Given the description of an element on the screen output the (x, y) to click on. 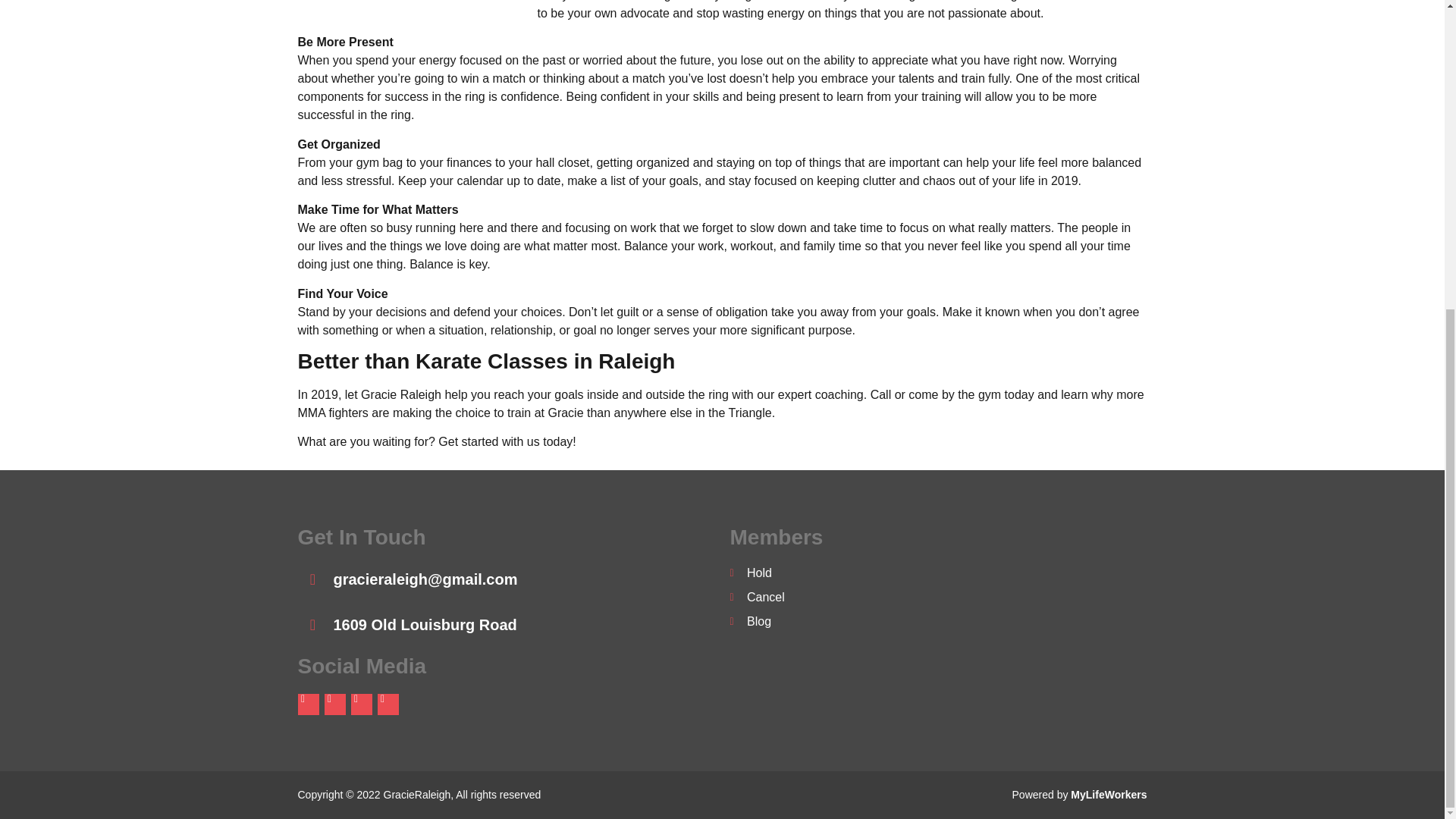
Hold (938, 573)
Cancel (938, 597)
Blog (938, 621)
